Given the description of an element on the screen output the (x, y) to click on. 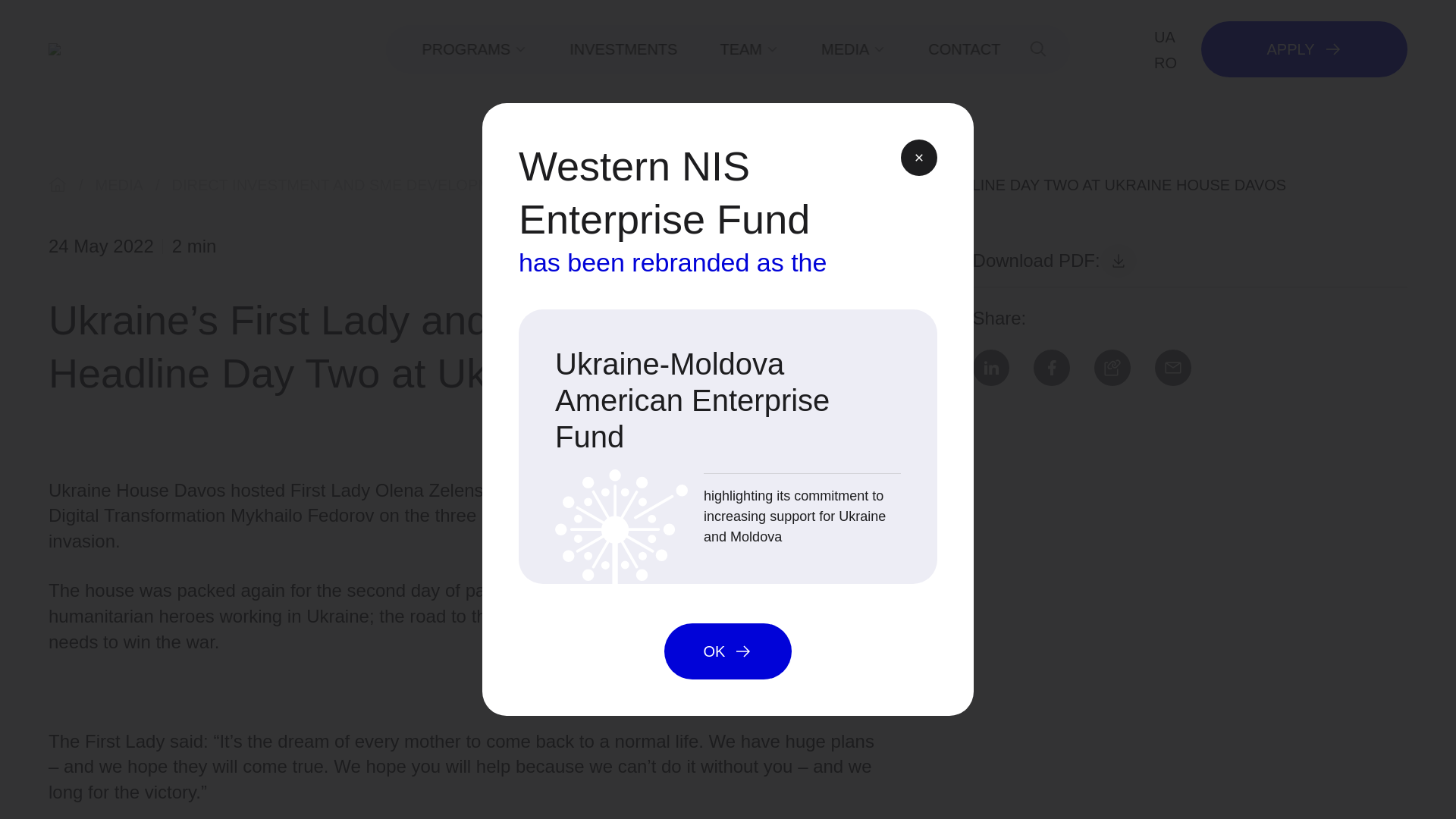
Download PDF: (1054, 260)
CONTACT (964, 49)
APPLY (1304, 48)
MEDIA (119, 184)
UA (1164, 37)
RO (1165, 62)
DIRECT INVESTMENT AND SME DEVELOPMENT (345, 184)
INVESTMENTS (623, 49)
